Given the description of an element on the screen output the (x, y) to click on. 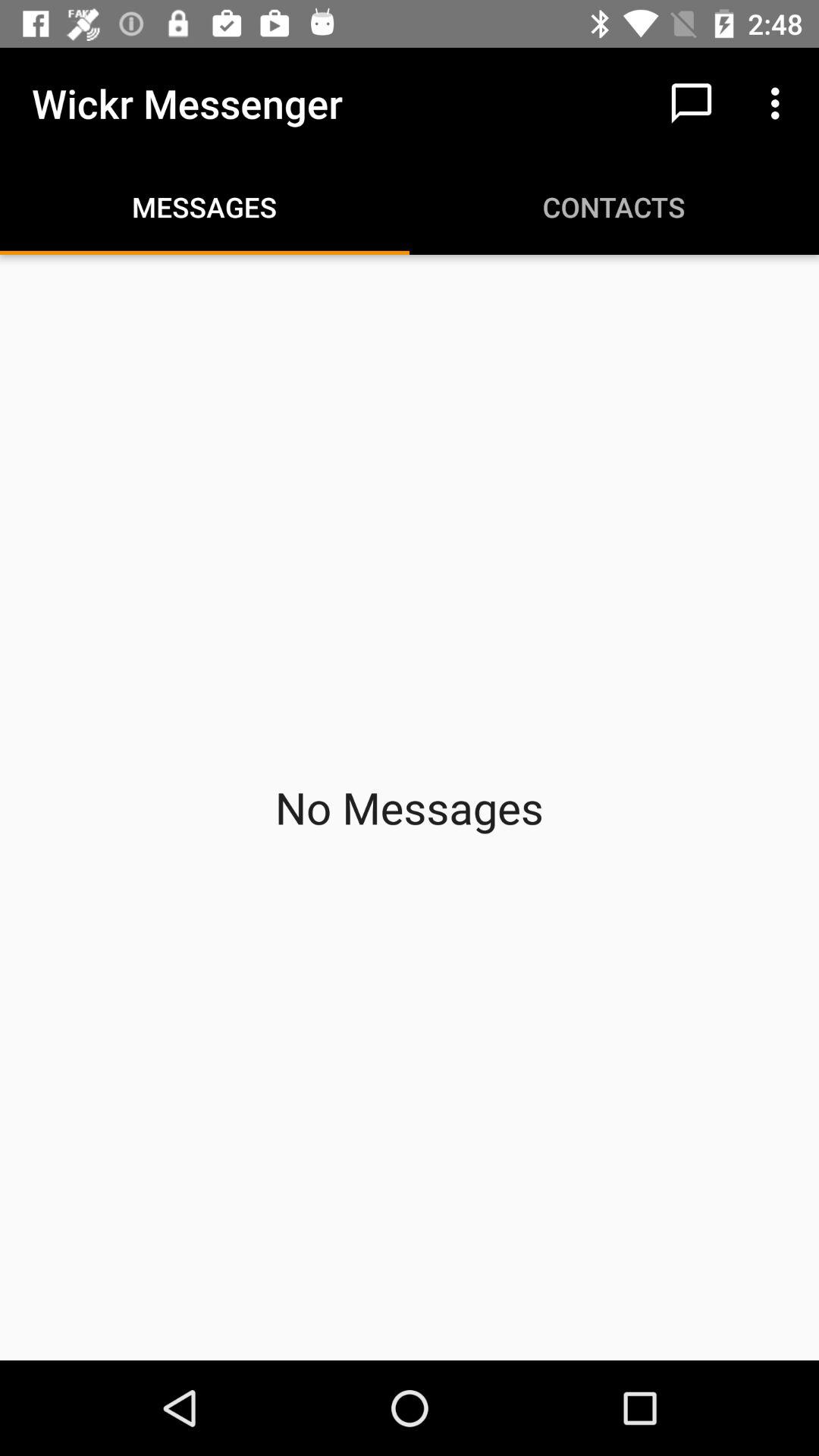
choose the item next to wickr messenger icon (691, 103)
